Given the description of an element on the screen output the (x, y) to click on. 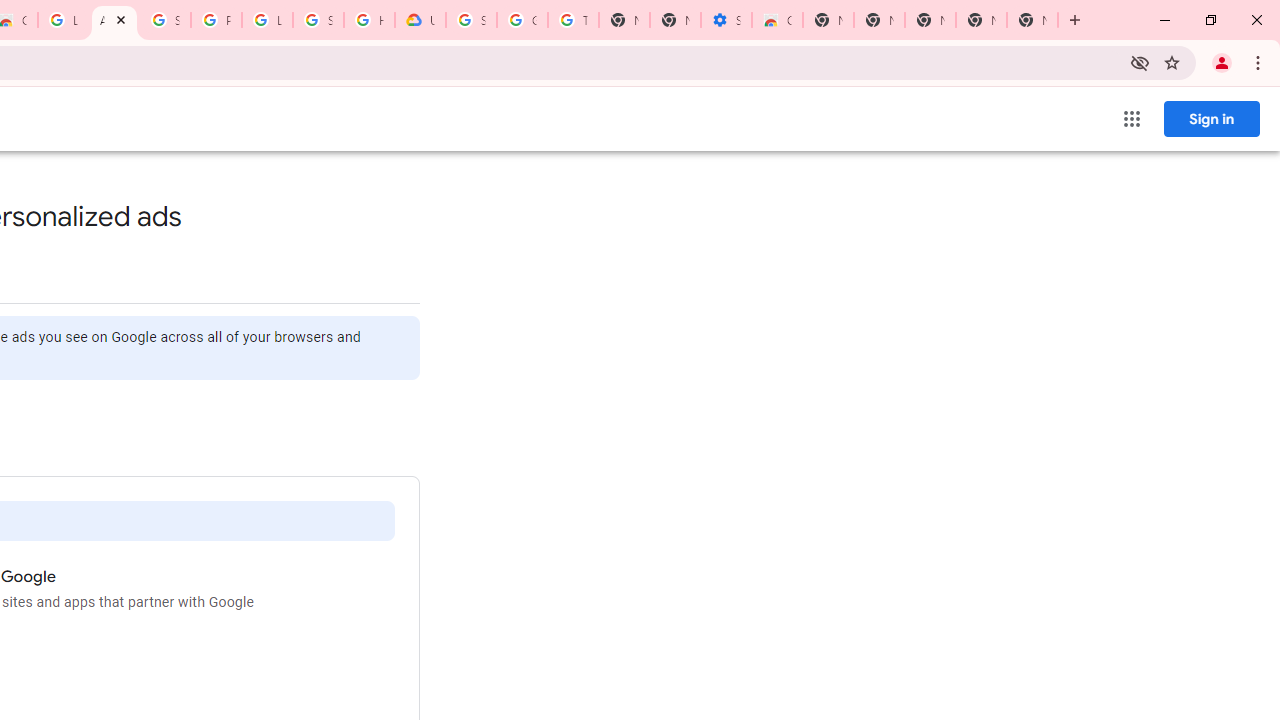
Sign in - Google Accounts (470, 20)
Restore (1210, 20)
Chrome (1260, 62)
Sign in (1211, 118)
Google apps (1132, 118)
Ad Settings (113, 20)
Third-party cookies blocked (1139, 62)
Bookmark this tab (1171, 62)
Sign in - Google Accounts (164, 20)
Chrome Web Store - Accessibility extensions (776, 20)
Sign in - Google Accounts (318, 20)
